Given the description of an element on the screen output the (x, y) to click on. 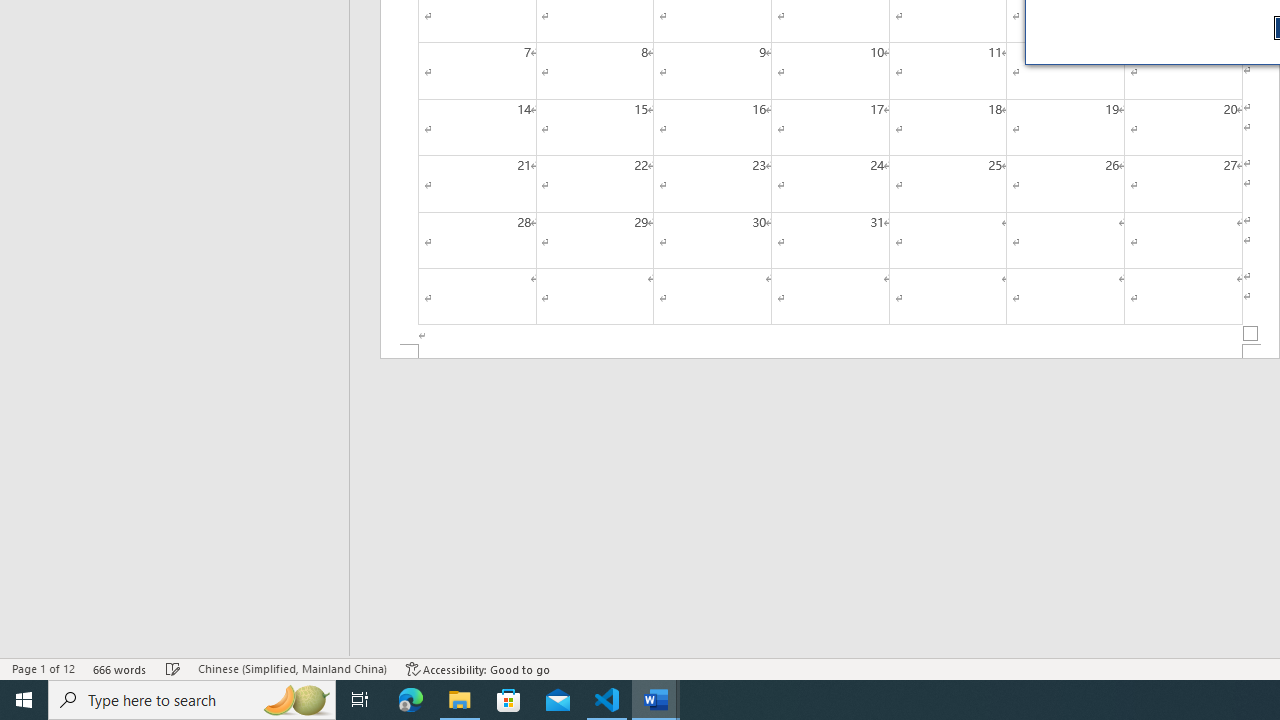
Start (24, 699)
Microsoft Edge (411, 699)
